Given the description of an element on the screen output the (x, y) to click on. 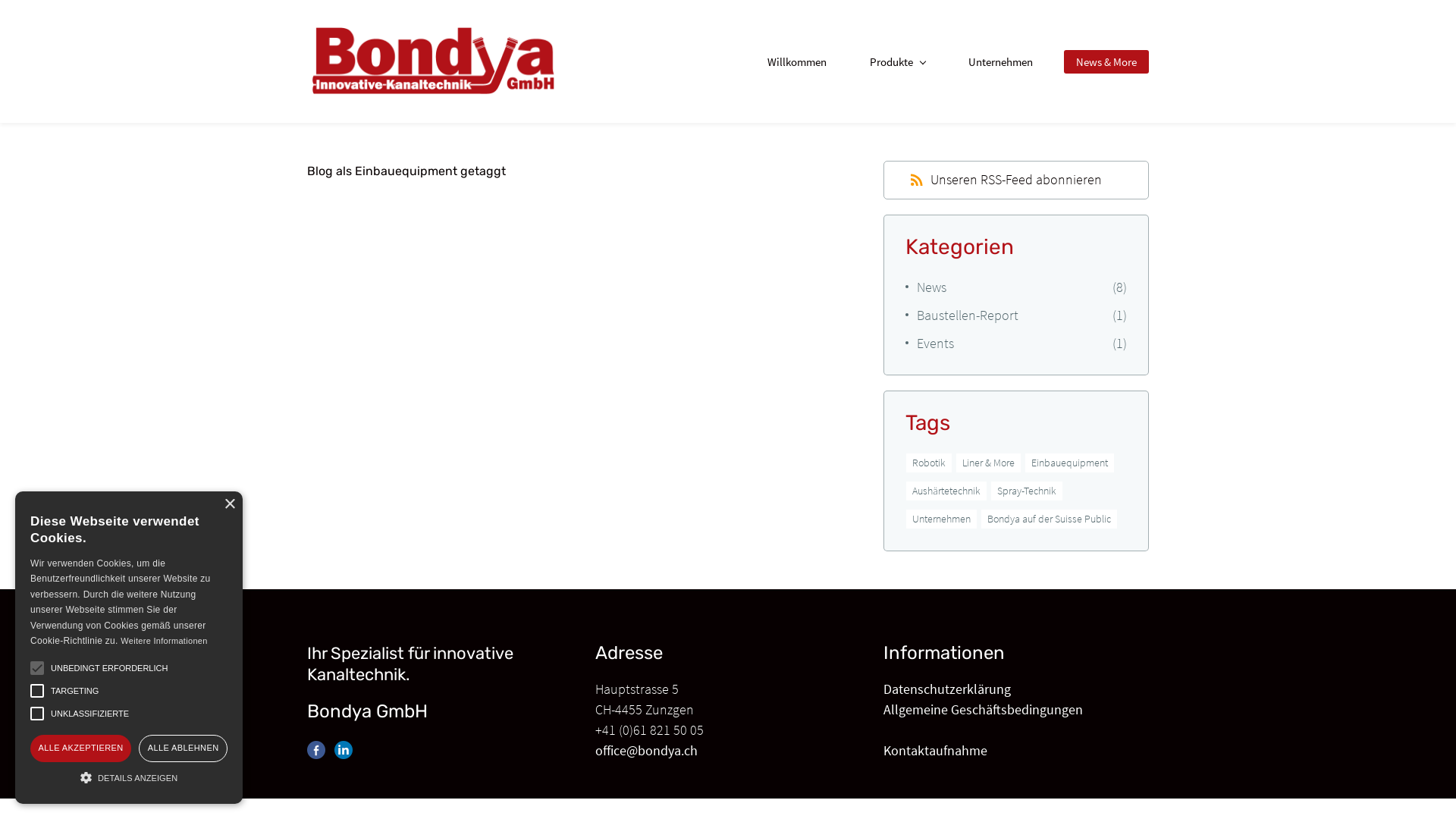
News Element type: text (931, 286)
Weitere Informationen Element type: text (163, 640)
Robotik Element type: text (928, 461)
Spray-Technik Element type: text (1026, 490)
Unternehmen Element type: text (1000, 61)
office@bondya.ch Element type: text (646, 750)
Liner & More Element type: text (988, 461)
News & More Element type: text (1105, 61)
Willkommen Element type: text (796, 61)
Unternehmen Element type: text (941, 517)
Produkte Element type: text (897, 61)
Unseren RSS-Feed abonnieren Element type: text (1005, 179)
Einbauequipment Element type: text (1069, 461)
Baustellen-Report Element type: text (967, 314)
Events Element type: text (934, 342)
Bondya auf der Suisse Public Element type: text (1048, 517)
Kontaktaufnahme Element type: text (935, 750)
